Given the description of an element on the screen output the (x, y) to click on. 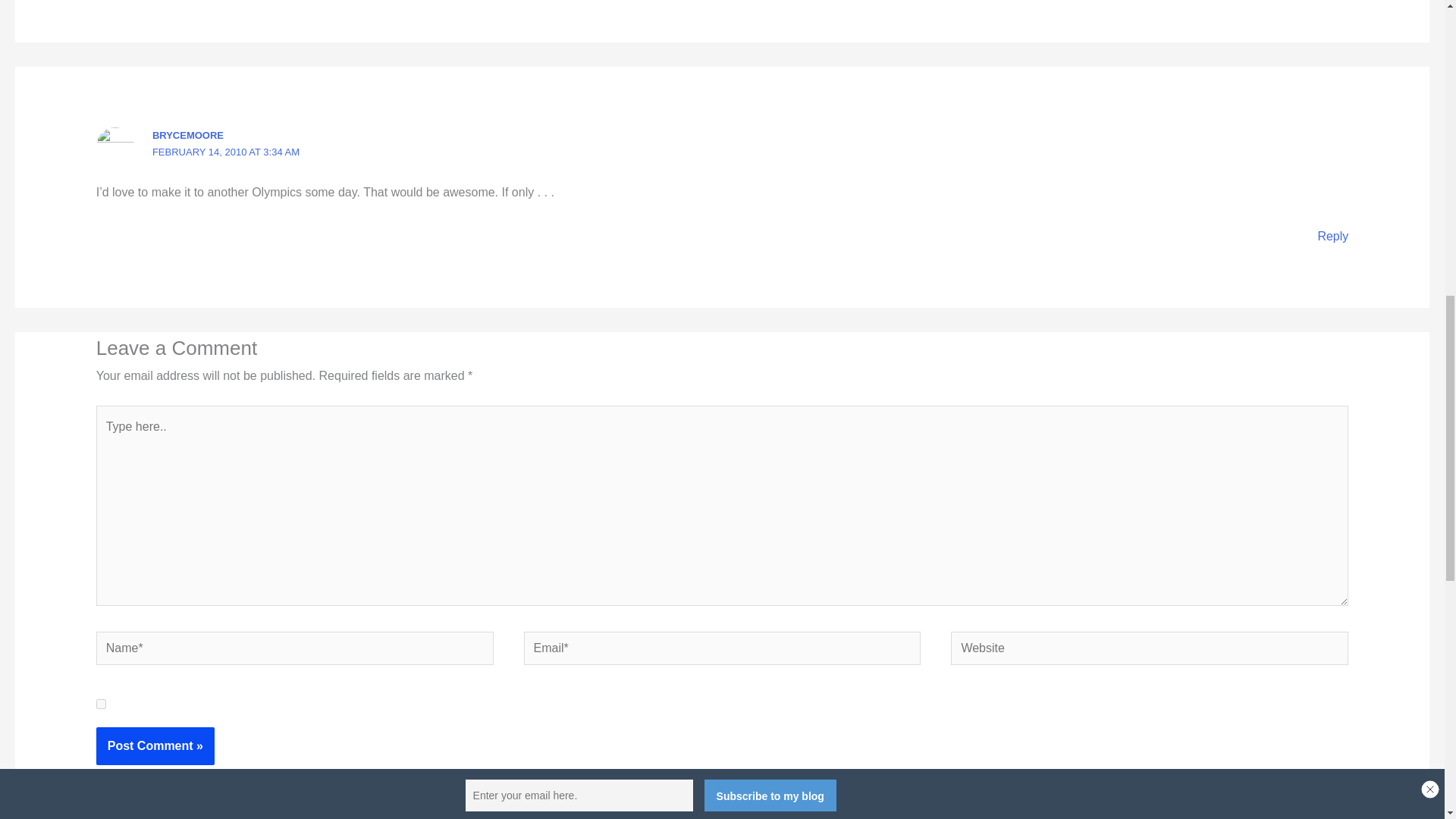
Reply (1332, 236)
BRYCEMOORE (188, 134)
FEBRUARY 14, 2010 AT 3:34 AM (225, 152)
1 (101, 704)
